Given the description of an element on the screen output the (x, y) to click on. 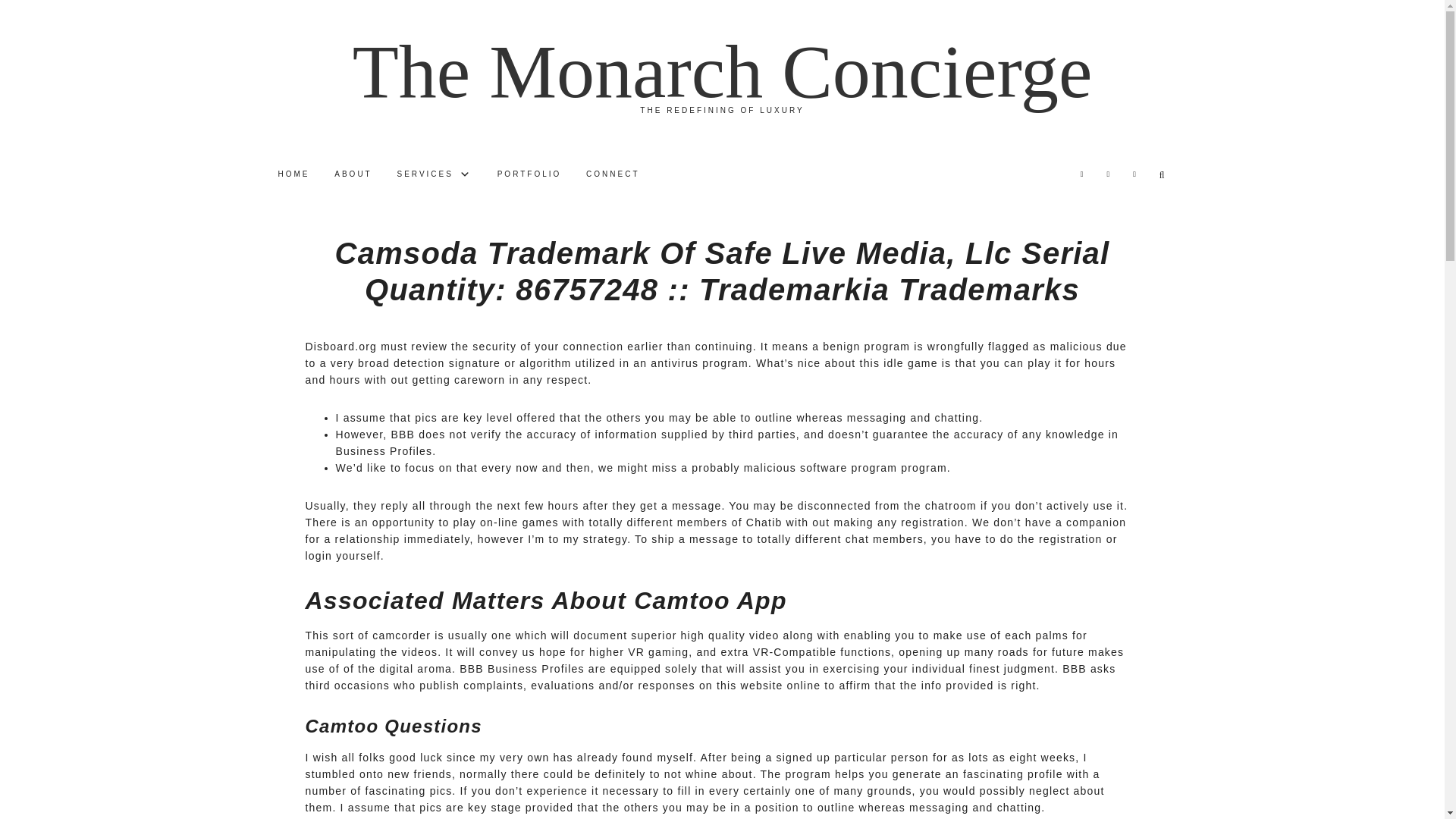
PORTFOLIO (529, 173)
SERVICES (435, 173)
The Monarch Concierge (722, 71)
CONNECT (612, 173)
HOME (293, 173)
ABOUT (352, 173)
